Given the description of an element on the screen output the (x, y) to click on. 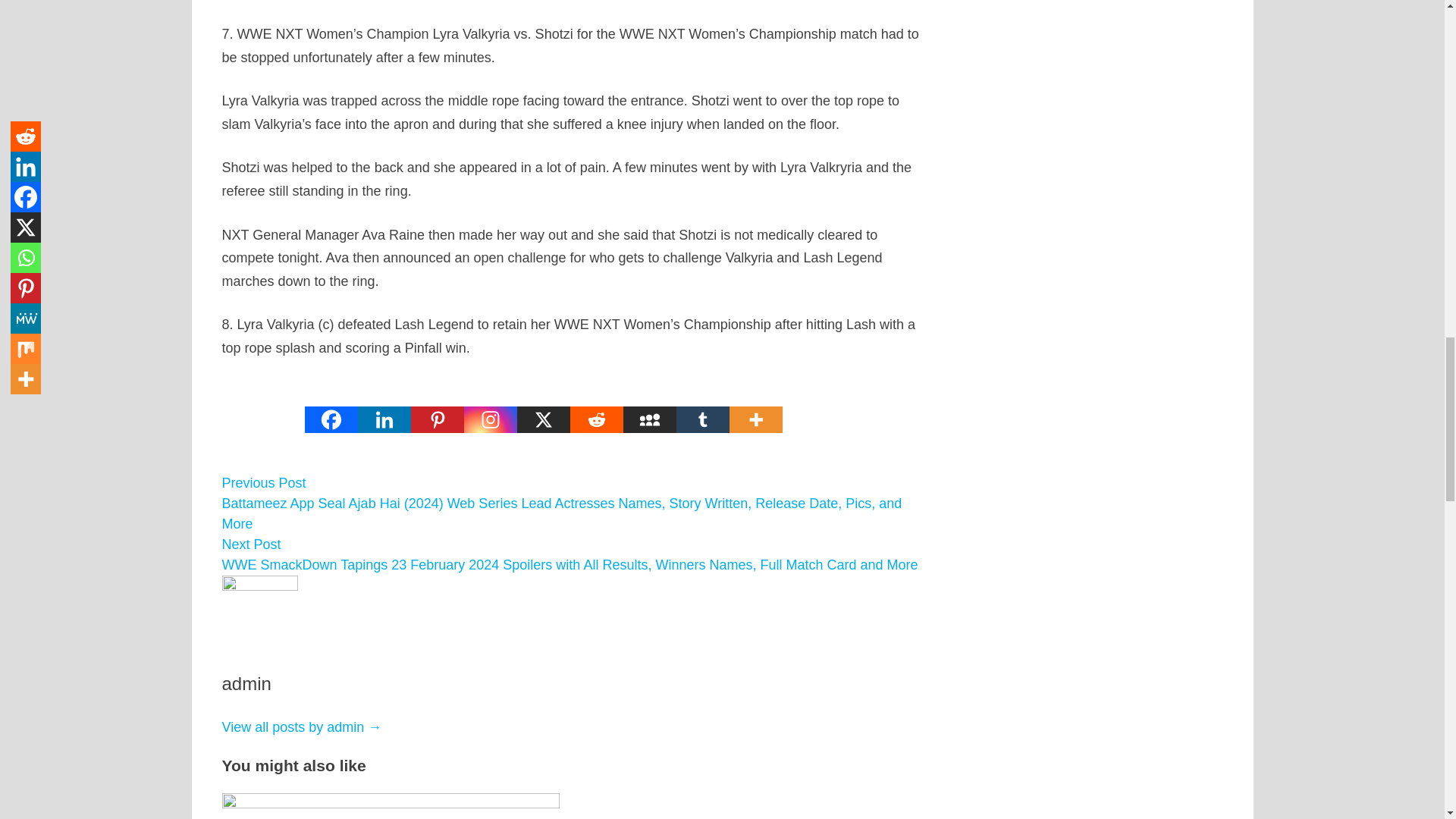
Pinterest (437, 408)
Reddit (596, 408)
MySpace (650, 408)
Linkedin (384, 408)
Instagram (490, 408)
More (756, 408)
Facebook (331, 408)
Tumblr (703, 408)
X (543, 408)
